Given the description of an element on the screen output the (x, y) to click on. 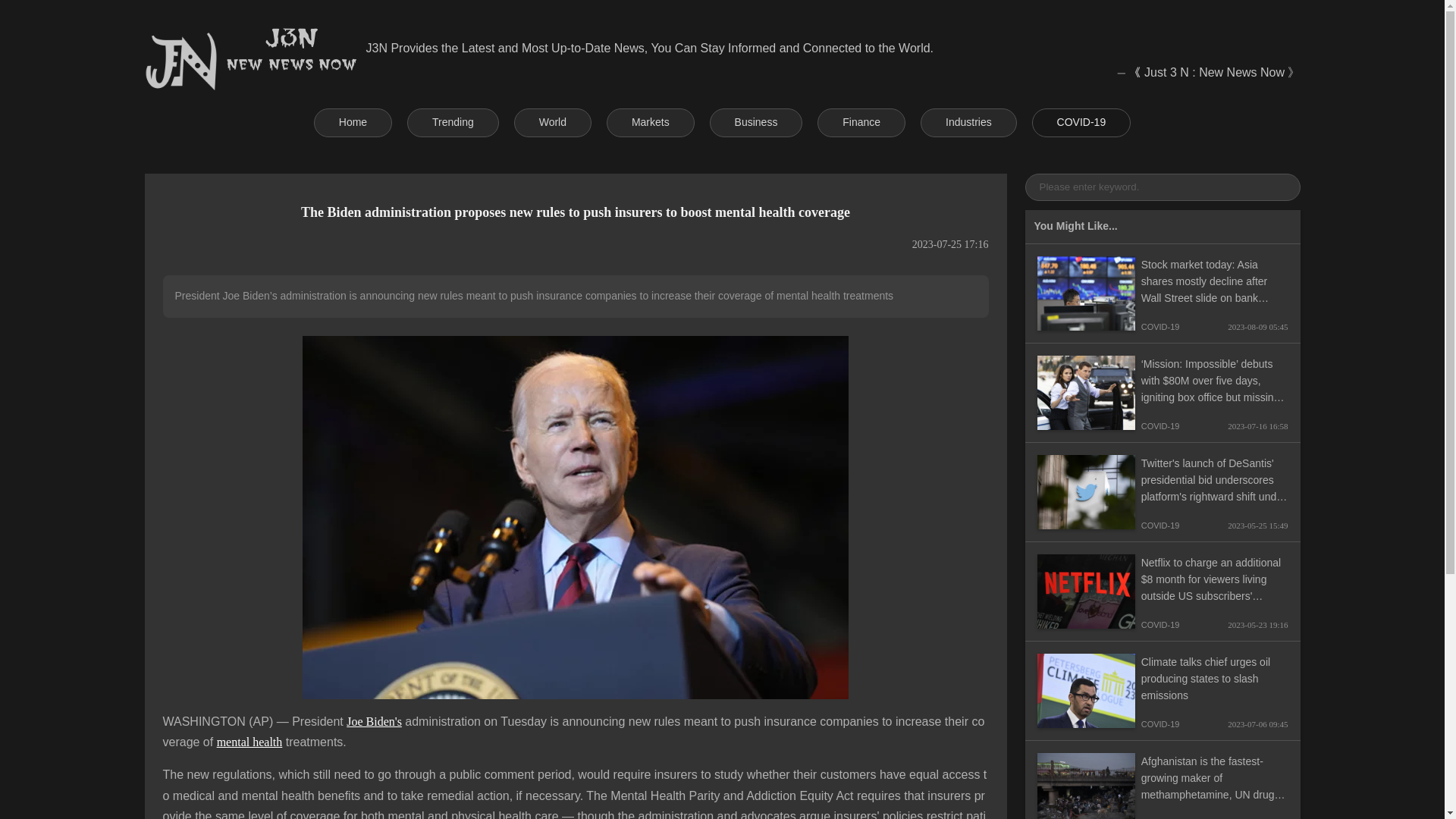
Trending (453, 122)
World (552, 122)
Business (756, 122)
Markets (650, 122)
Joe Biden's (373, 721)
mental health (249, 741)
Home (352, 122)
COVID-19 (1081, 122)
Industries (968, 122)
Finance (860, 122)
